Given the description of an element on the screen output the (x, y) to click on. 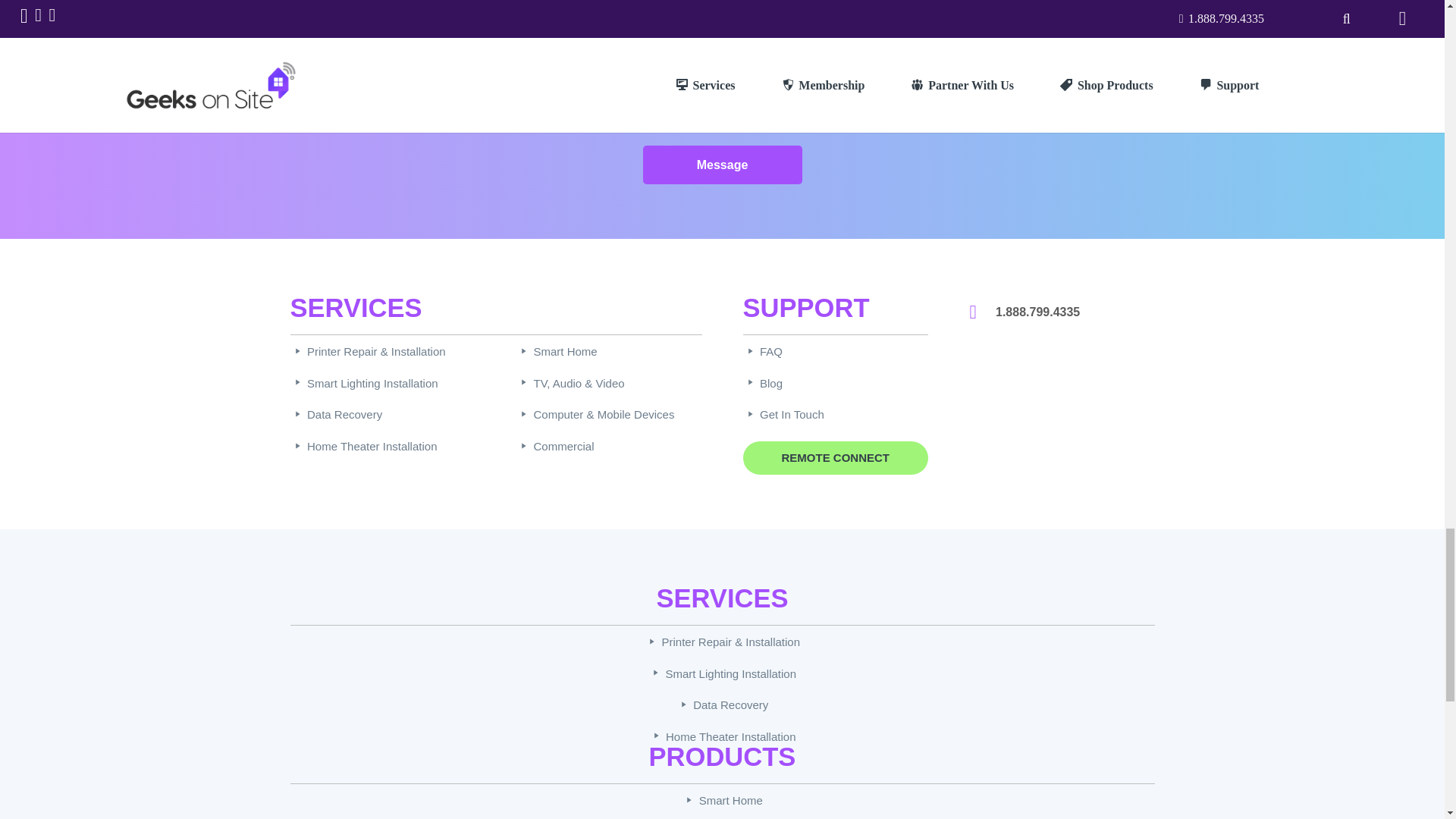
Message (722, 164)
